Given the description of an element on the screen output the (x, y) to click on. 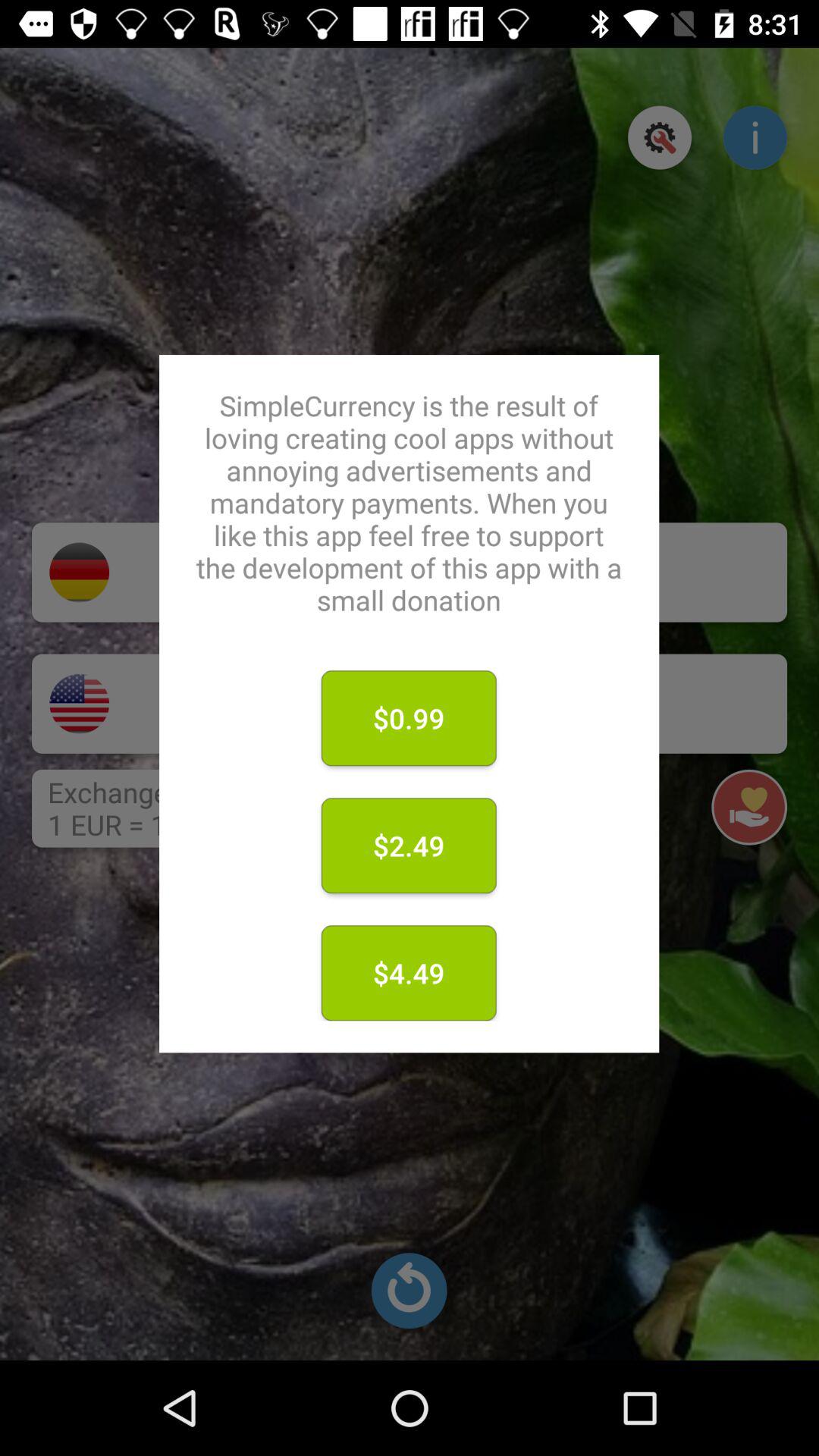
click to donate (443, 703)
